Given the description of an element on the screen output the (x, y) to click on. 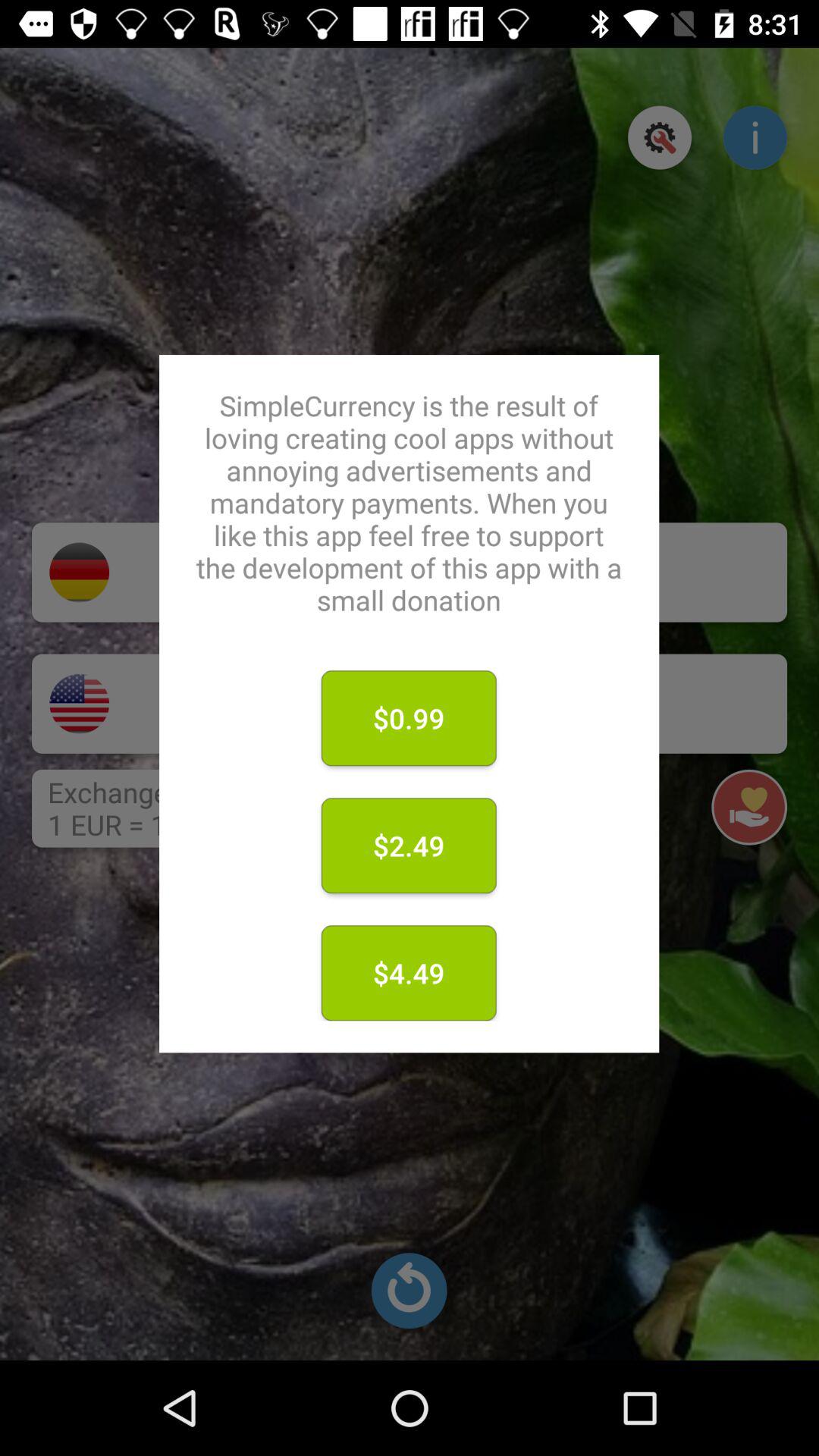
click to donate (443, 703)
